Given the description of an element on the screen output the (x, y) to click on. 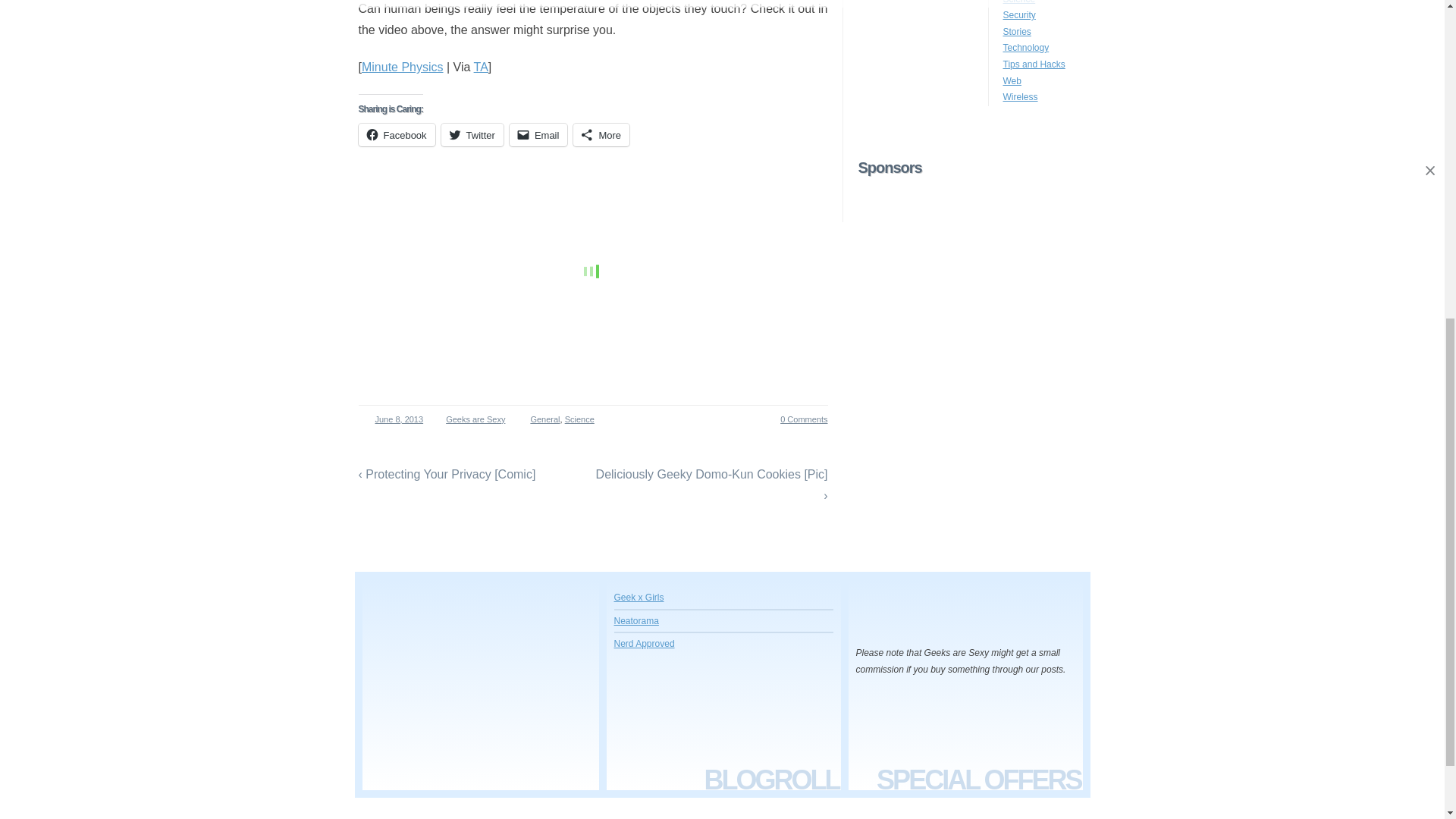
Minute Physics (402, 66)
Science (579, 419)
TA (480, 66)
More (600, 134)
June 8, 2013 (394, 419)
Facebook (395, 134)
General (544, 419)
Twitter (472, 134)
Geeks are Sexy (471, 419)
0 Comments (794, 419)
